Given the description of an element on the screen output the (x, y) to click on. 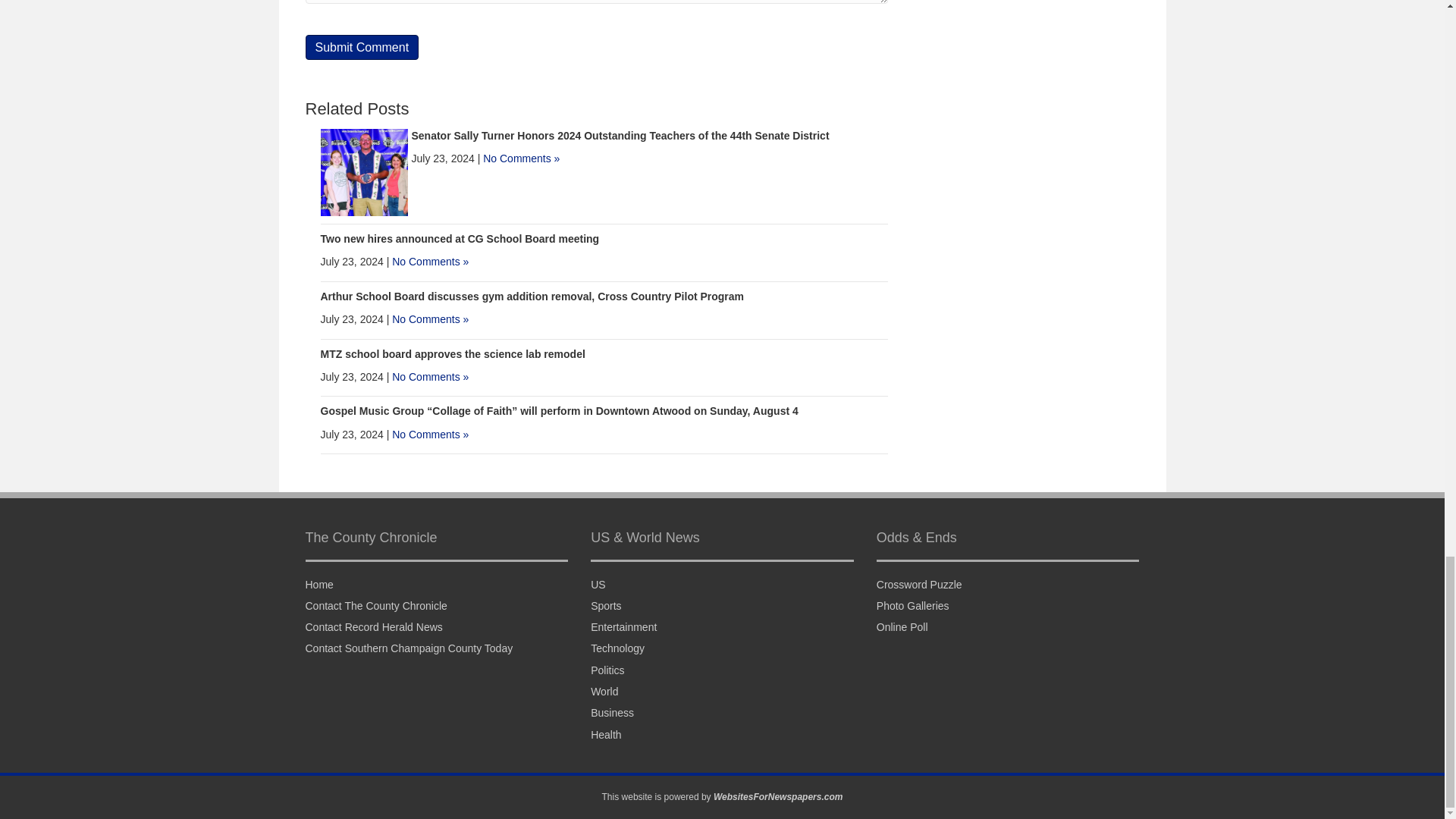
Two new hires announced at CG School Board meeting (459, 238)
Submit Comment (361, 47)
MTZ school board approves the science lab remodel (452, 354)
